Given the description of an element on the screen output the (x, y) to click on. 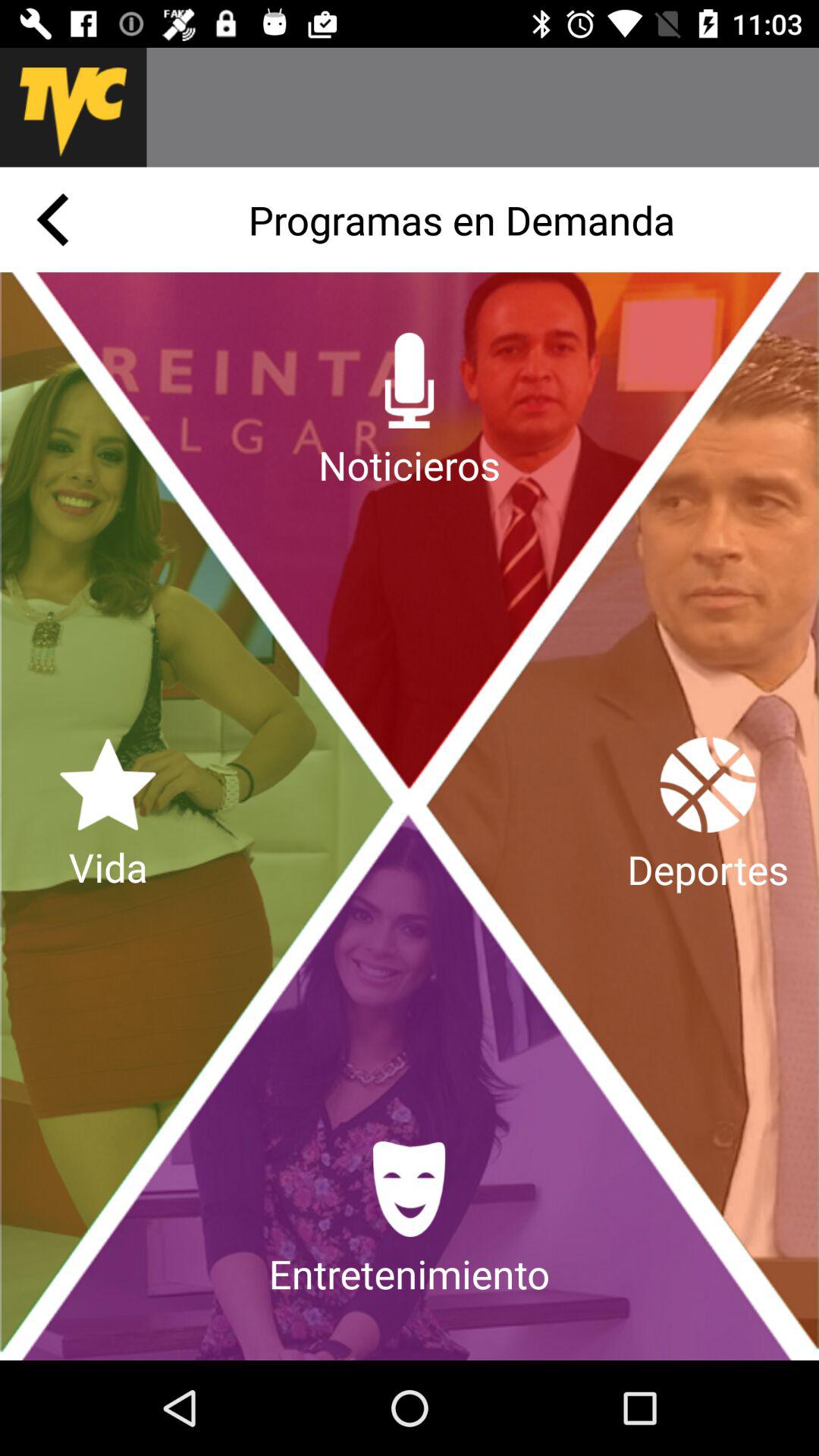
press the entretenimiento icon (409, 1220)
